Given the description of an element on the screen output the (x, y) to click on. 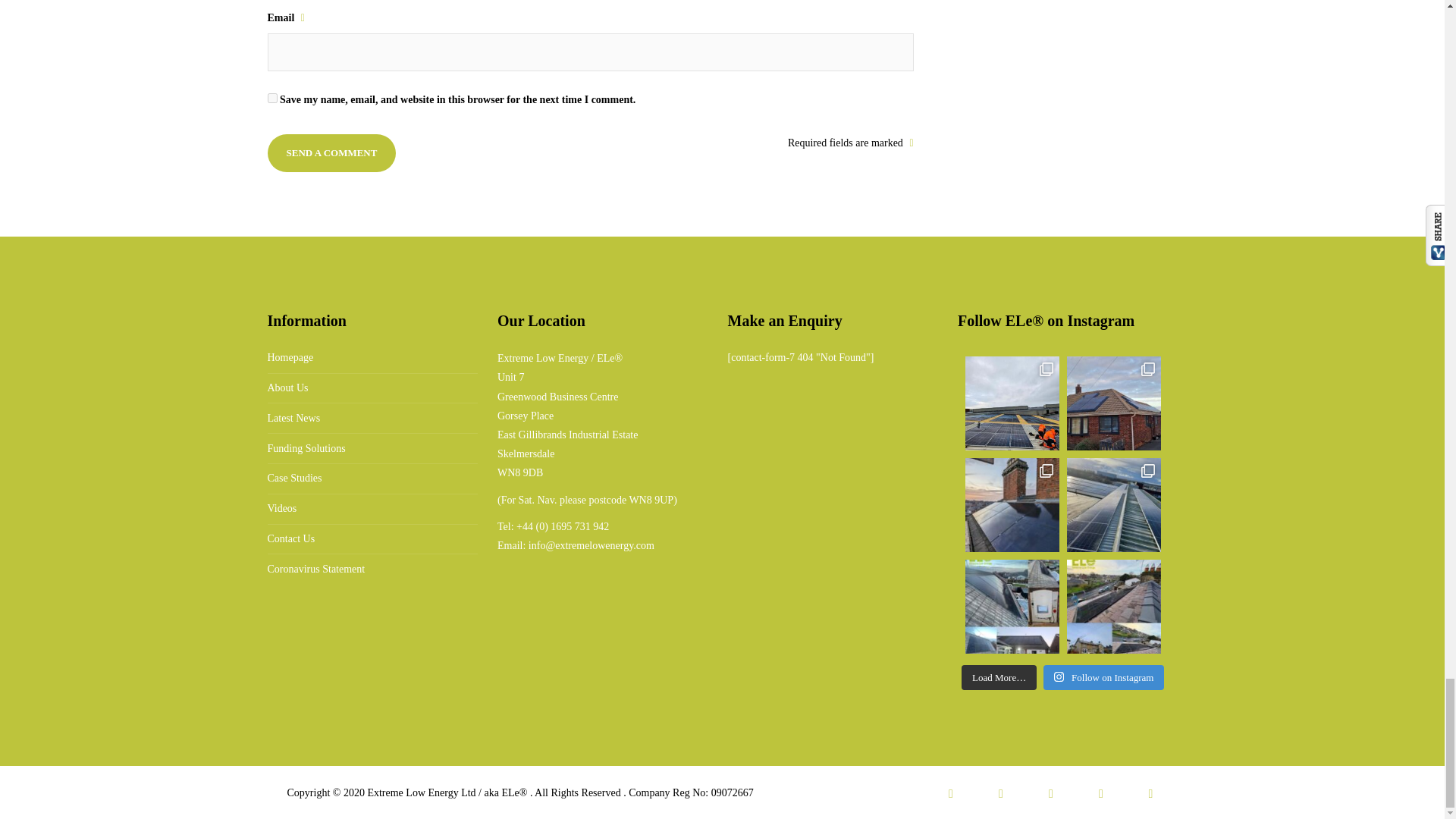
yes (271, 98)
Send a comment (331, 152)
